Given the description of an element on the screen output the (x, y) to click on. 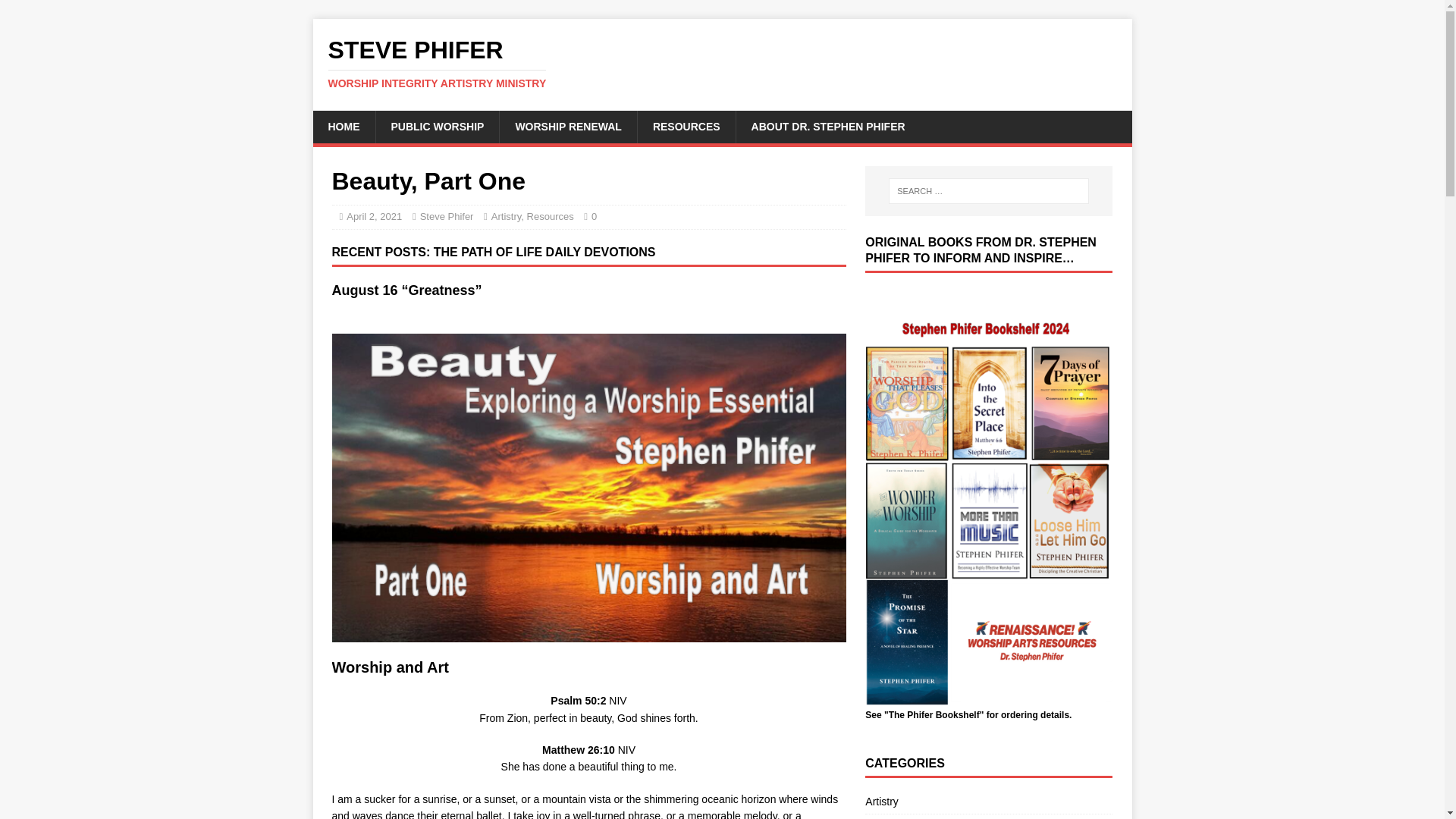
Artistry (506, 215)
Artistry (988, 803)
Fire and Form (721, 63)
Steve Phifer (988, 816)
Resources (721, 63)
ABOUT DR. STEPHEN PHIFER (550, 215)
Beauty 1 (827, 126)
HOME (568, 126)
